Given the description of an element on the screen output the (x, y) to click on. 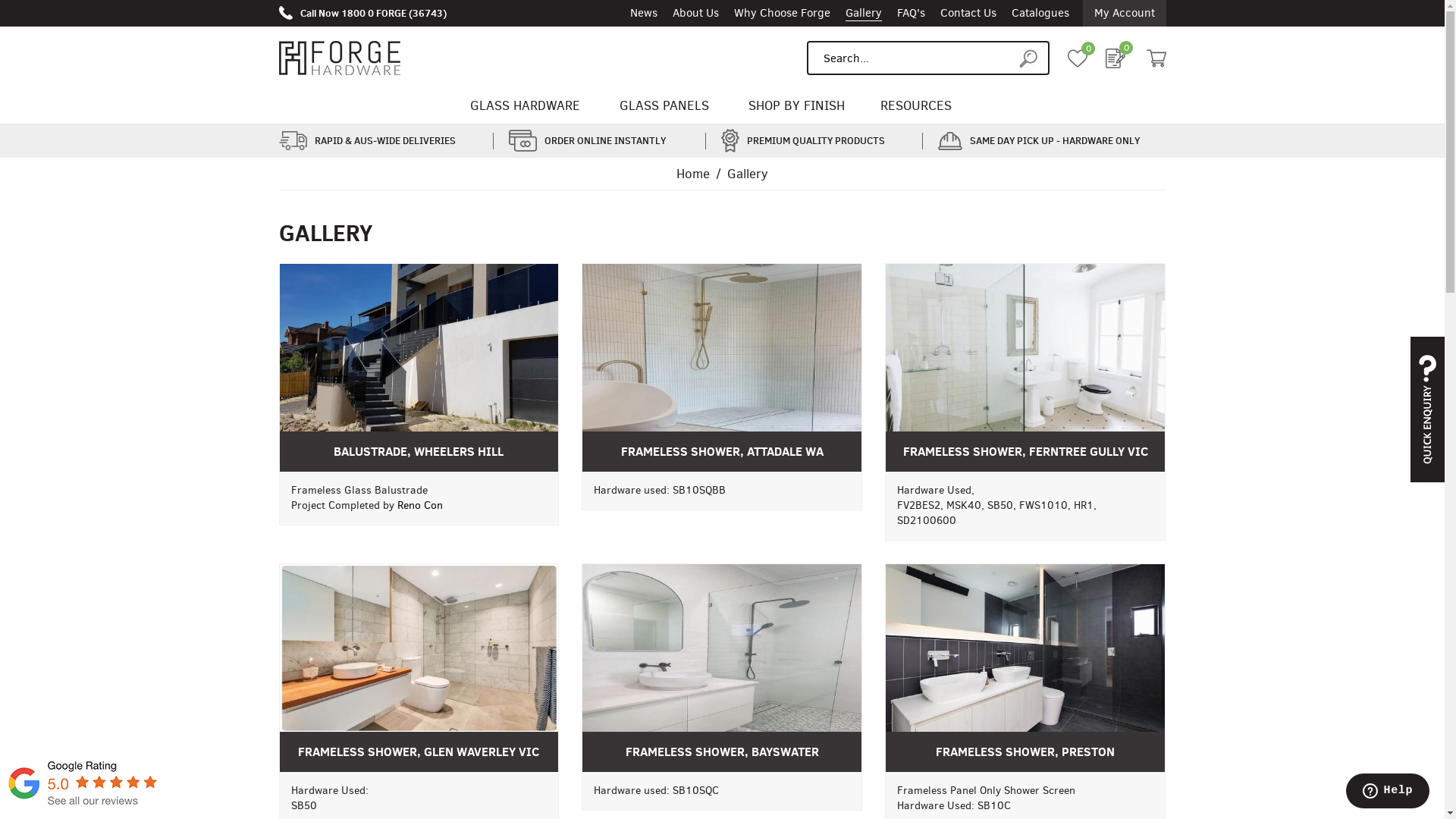
FRAMELESS SHOWER, GLEN WAVERLEY VIC Element type: text (418, 667)
Opens a widget where you can chat to one of our agents Element type: hover (1387, 792)
GLASS PANELS Element type: text (664, 106)
Catalogues Element type: text (1040, 13)
0 Element type: text (1077, 58)
My Cart Element type: text (1156, 58)
About Us Element type: text (694, 13)
GLASS HARDWARE Element type: text (525, 106)
Home Element type: text (692, 173)
Call Now 1800 0 FORGE (36743) Element type: text (362, 12)
FRAMELESS SHOWER, FERNTREE GULLY VIC Element type: text (1024, 367)
Search Element type: hover (1034, 57)
Why Choose Forge Element type: text (782, 13)
FAQ's Element type: text (910, 13)
FRAMELESS SHOWER, PRESTON Element type: text (1024, 667)
My Account Element type: text (1124, 13)
FRAMELESS SHOWER, BAYSWATER Element type: text (721, 667)
Reno Con Element type: text (419, 505)
Glass Hardware Melbourne Element type: hover (83, 810)
News Element type: text (642, 13)
BALUSTRADE, WHEELERS HILL Element type: text (418, 367)
RESOURCES Element type: text (915, 106)
0 Element type: text (1115, 58)
Gallery Element type: text (862, 13)
Forge Hardware Element type: hover (339, 57)
SHOP BY FINISH Element type: text (796, 106)
FRAMELESS SHOWER, ATTADALE WA Element type: text (721, 367)
Contact Us Element type: text (968, 13)
